Given the description of an element on the screen output the (x, y) to click on. 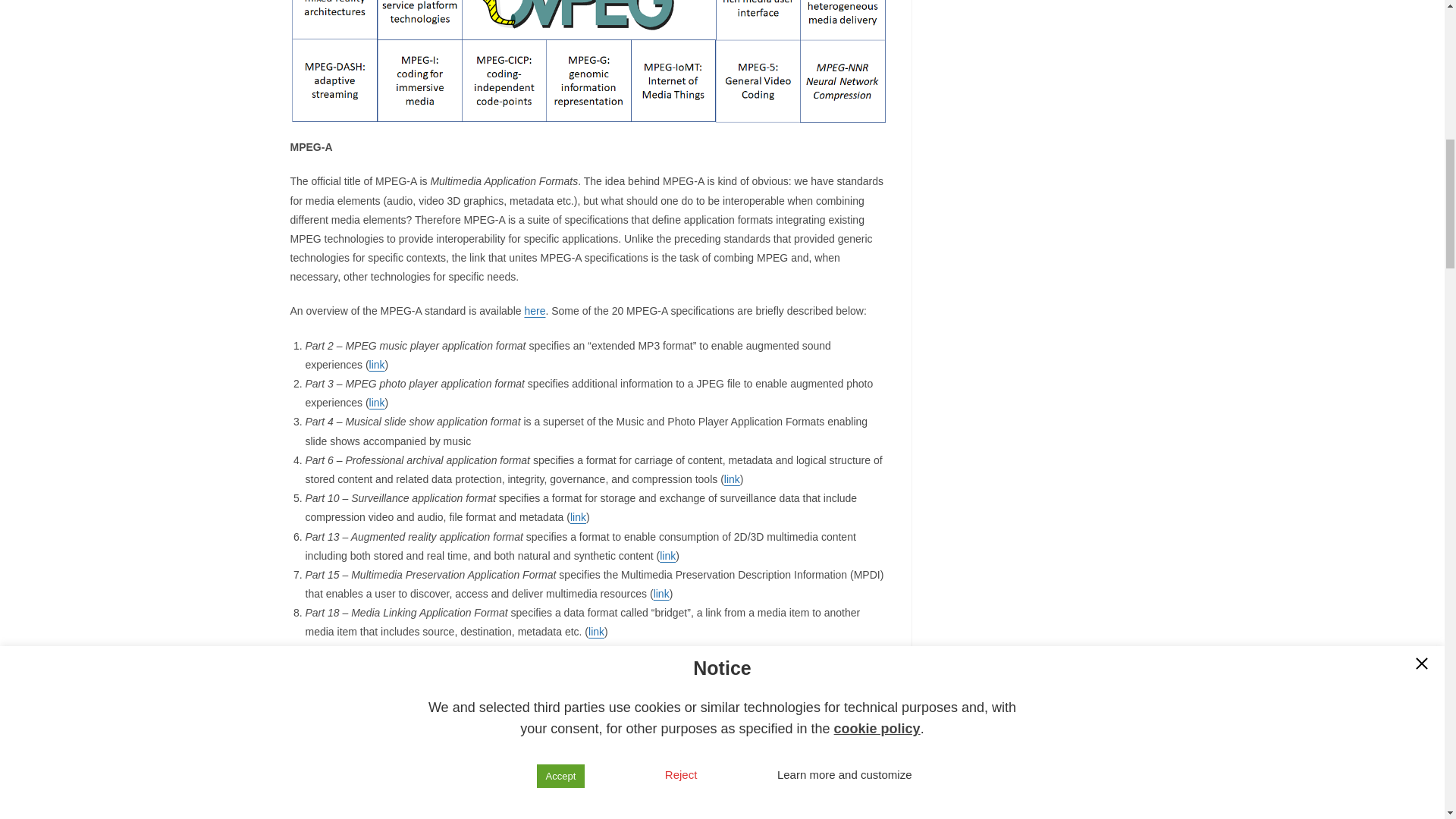
link (578, 517)
link (667, 555)
link (596, 631)
link (731, 479)
link (377, 364)
here (534, 310)
link (377, 402)
link (661, 593)
link (853, 670)
